Given the description of an element on the screen output the (x, y) to click on. 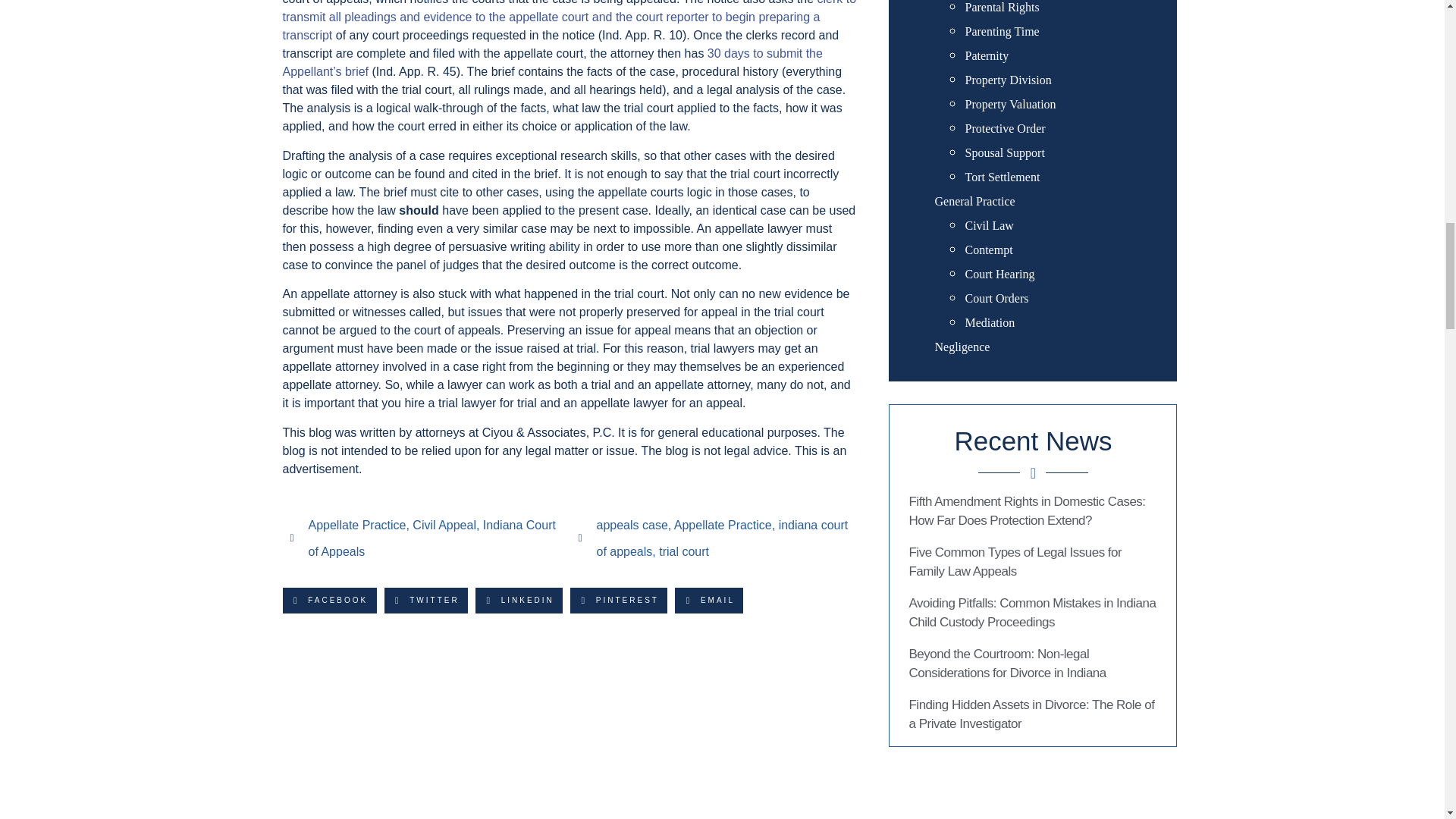
Appellate Practice (356, 524)
appeals case (630, 524)
Civil Appeal (444, 524)
Indiana Court of Appeals (430, 537)
Appellate Practice (722, 524)
